Given the description of an element on the screen output the (x, y) to click on. 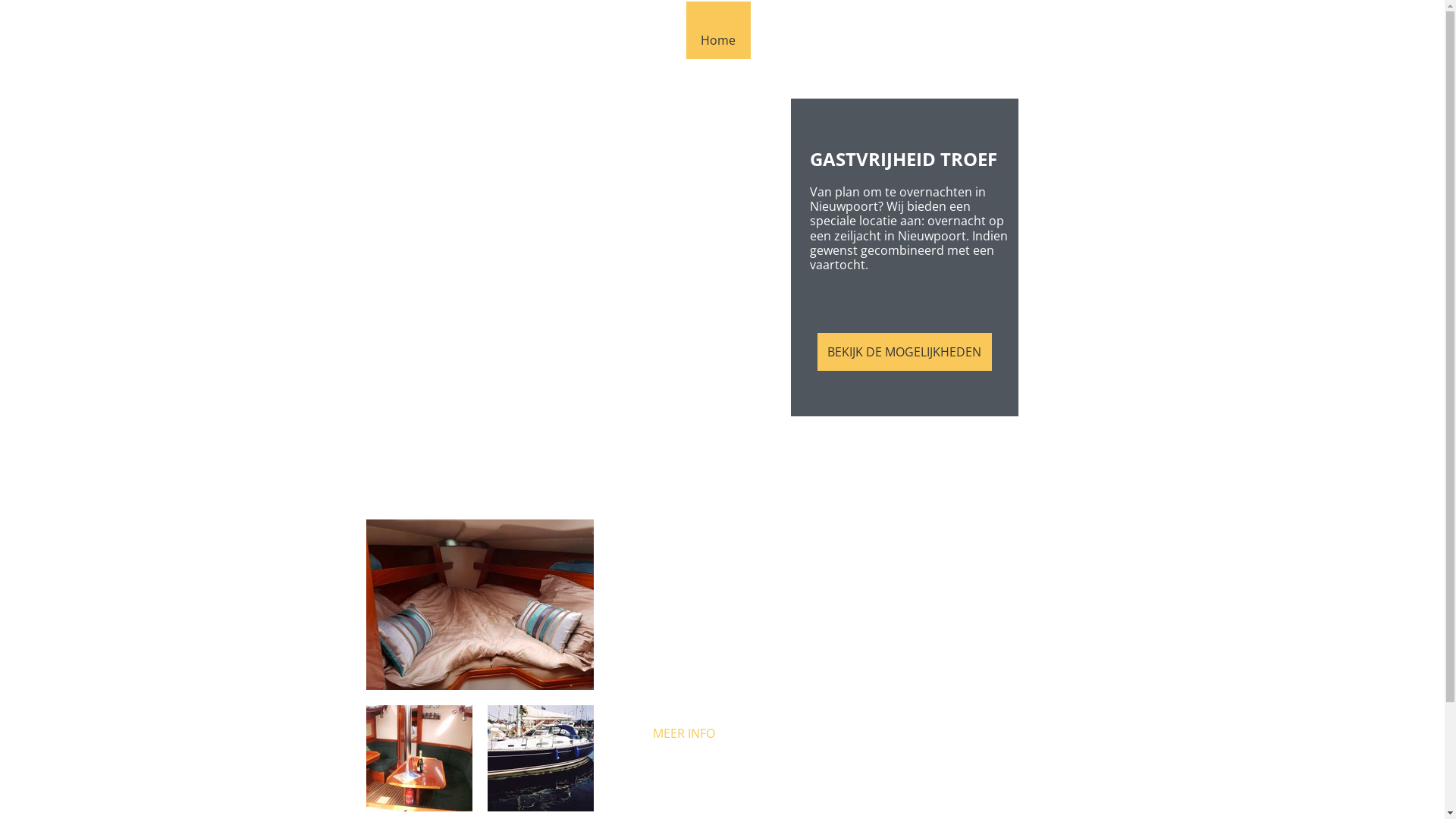
MEER INFO Element type: text (683, 732)
Vaartochten Element type: text (870, 30)
Contact Element type: text (1041, 30)
Home Element type: text (717, 30)
BEKIJK DE MOGELIJKHEDEN Element type: text (904, 351)
Locatie Element type: text (785, 30)
Over Ons Element type: text (963, 30)
